Given the description of an element on the screen output the (x, y) to click on. 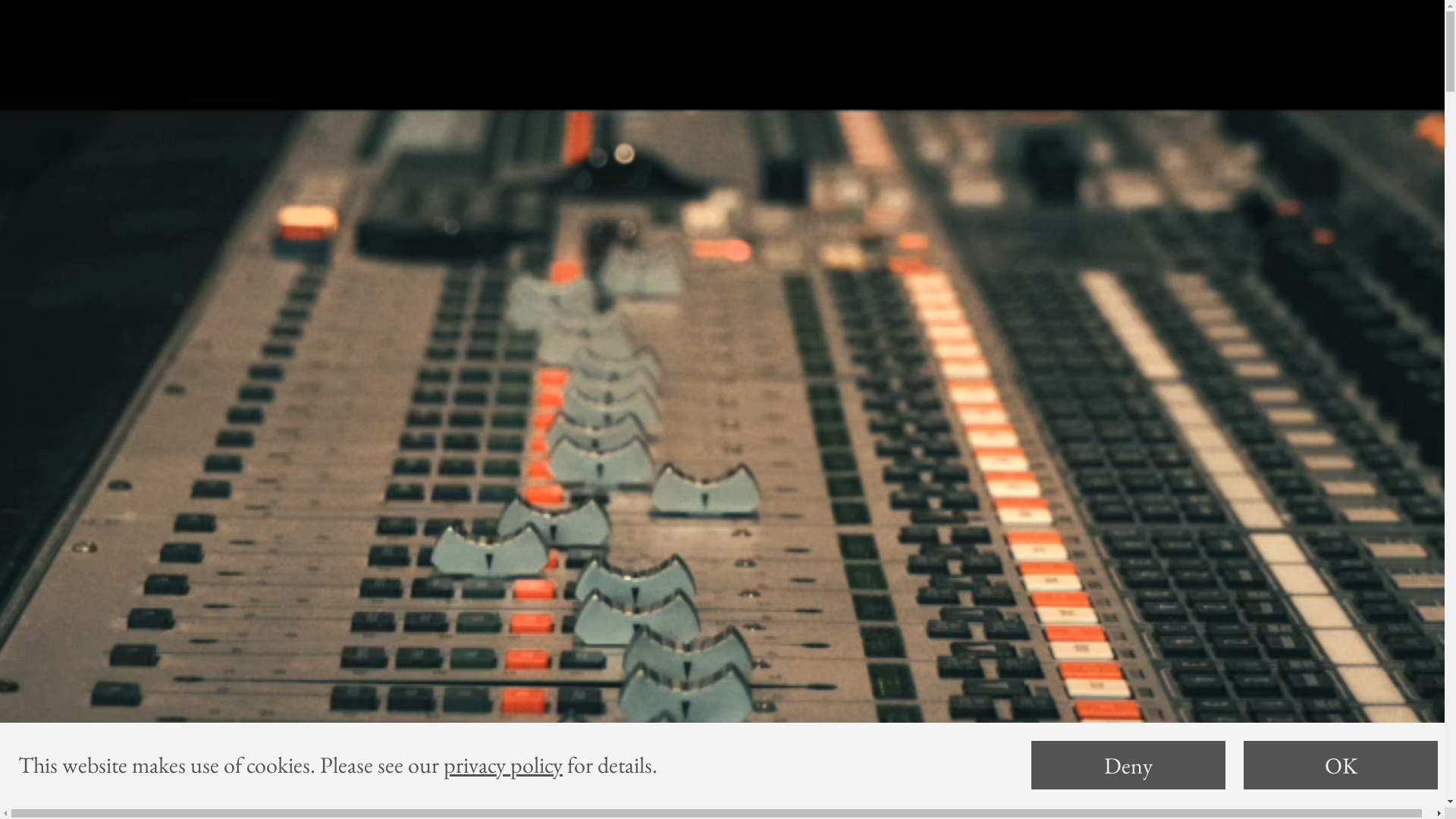
privacy policy Element type: text (502, 764)
